Given the description of an element on the screen output the (x, y) to click on. 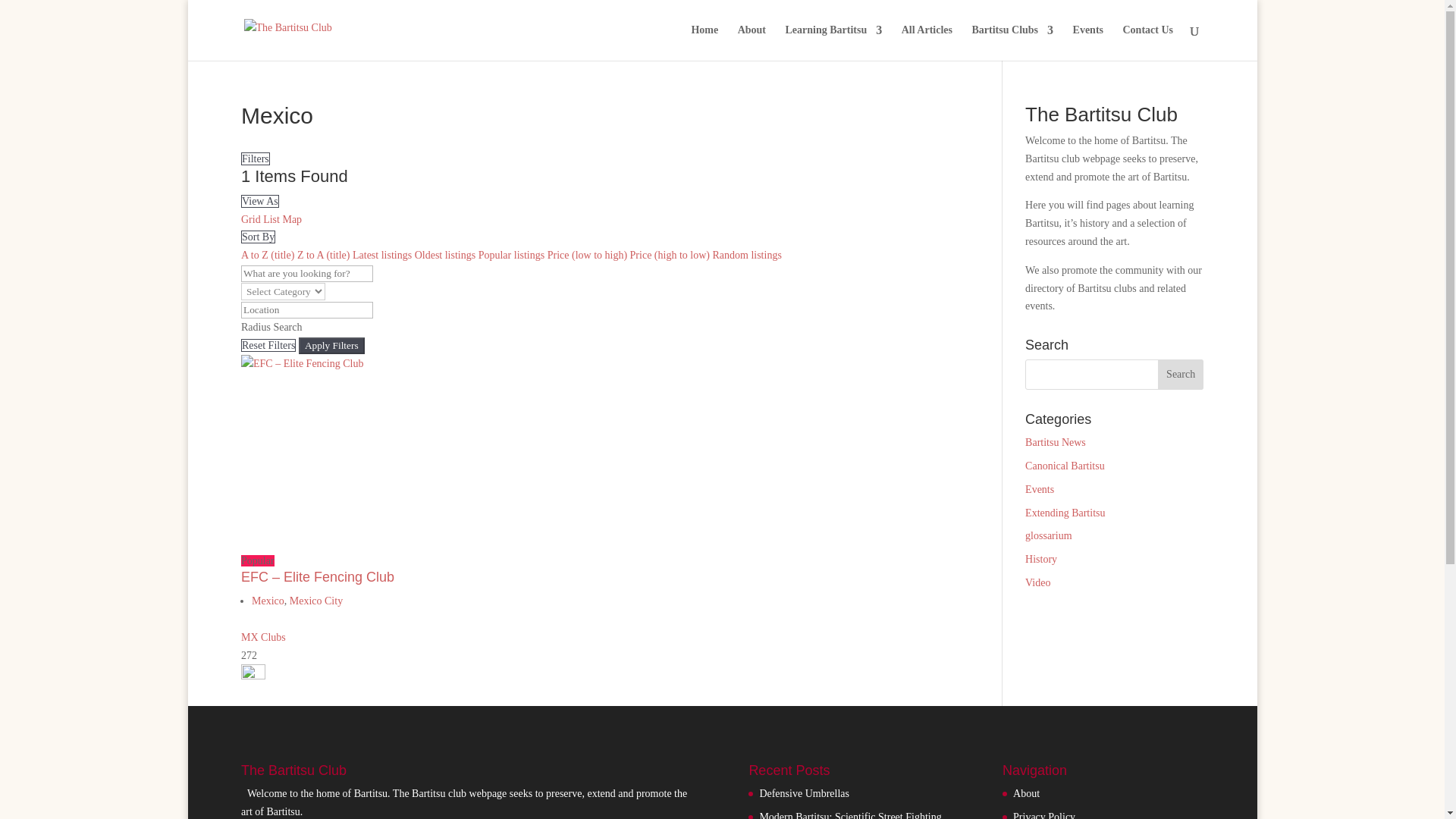
Oldest listings (445, 255)
Mexico (267, 600)
Mexico City (315, 600)
Search (1180, 374)
Popular listings (511, 255)
All Articles (926, 42)
Filters (255, 158)
MX Clubs (263, 636)
Bartitsu News (1055, 441)
Bartitsu Clubs (1013, 42)
